Given the description of an element on the screen output the (x, y) to click on. 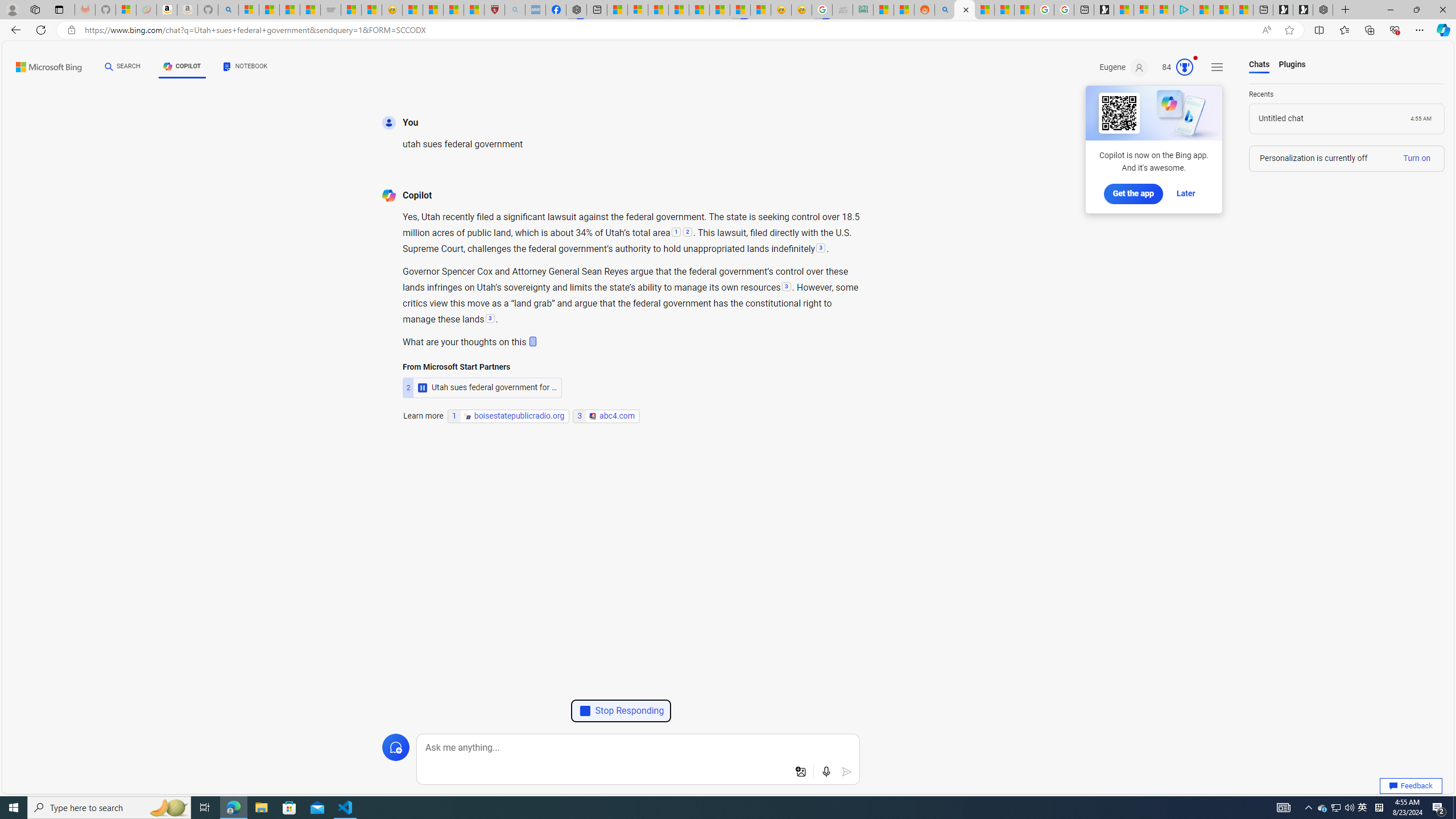
Chats (1259, 65)
3:  (786, 287)
Back to Bing search (41, 64)
AutomationID: serp_medal_svg (1183, 67)
